Given the description of an element on the screen output the (x, y) to click on. 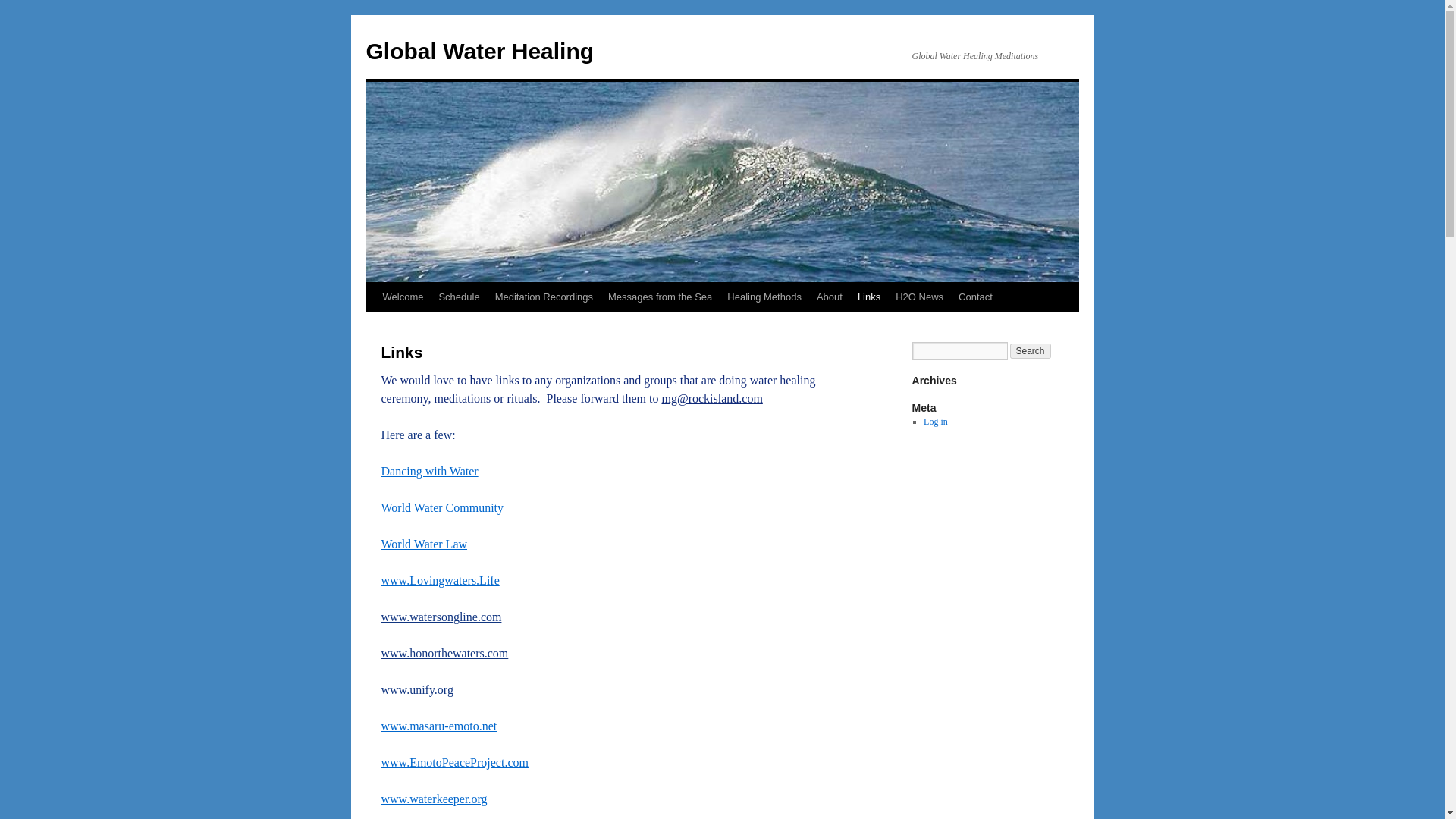
www.unify.org (416, 689)
About (829, 297)
Messages from the Sea (659, 297)
www.honorthewaters.com (444, 653)
www.watersongline.com (440, 616)
www.EmotoPeaceProject.com (453, 762)
World Water Law (423, 543)
Global Water Healing (479, 50)
Contact (975, 297)
Meditation Recordings (543, 297)
Search (1030, 350)
Welcome (402, 297)
Links (869, 297)
H2O News (919, 297)
Healing Methods (764, 297)
